Given the description of an element on the screen output the (x, y) to click on. 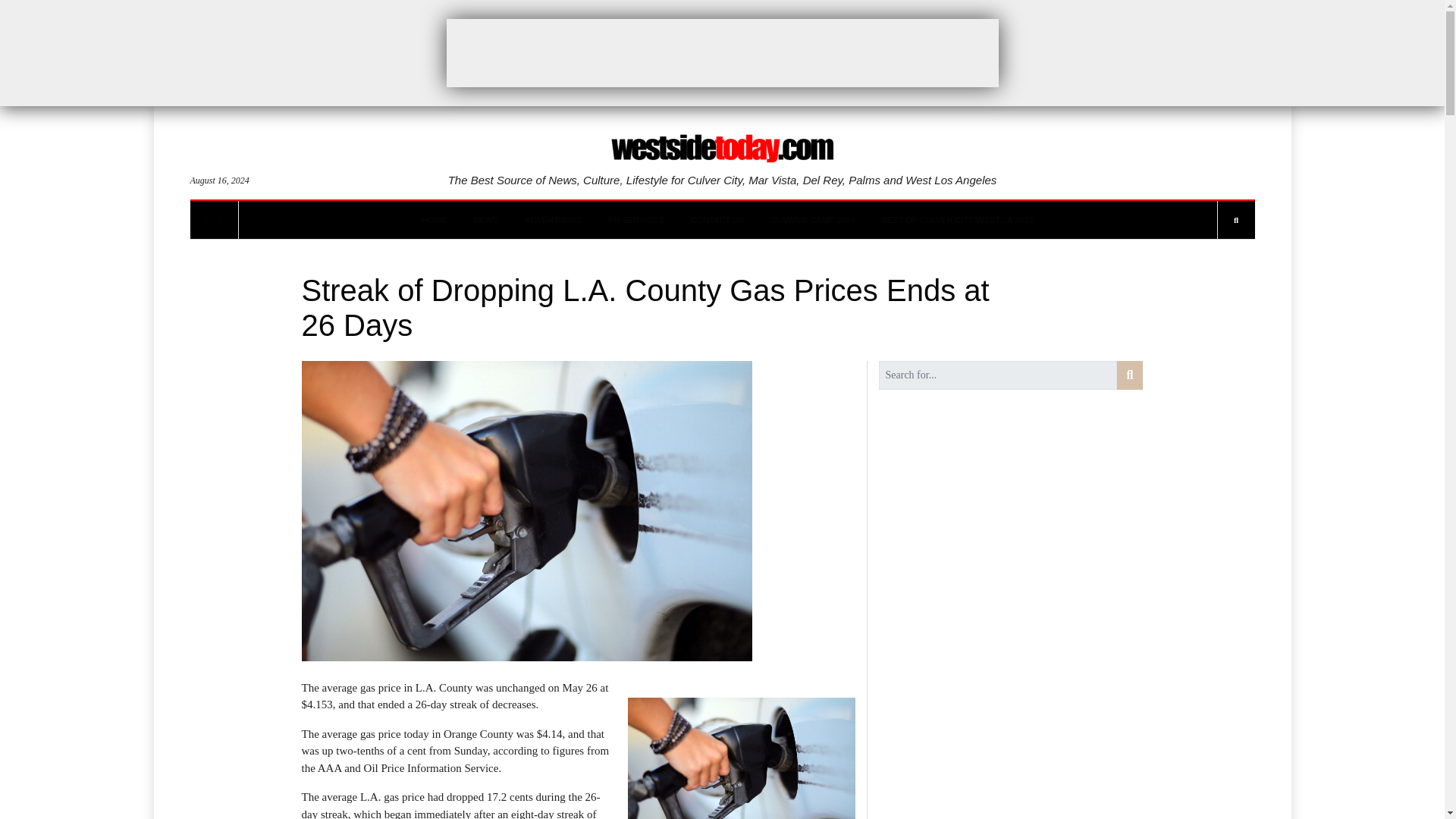
ADVERTISING (552, 219)
3rd party ad content (721, 52)
CONTACT US (717, 219)
SUMMER CAMP 2024 (813, 219)
PR SERVICES (635, 219)
